Given the description of an element on the screen output the (x, y) to click on. 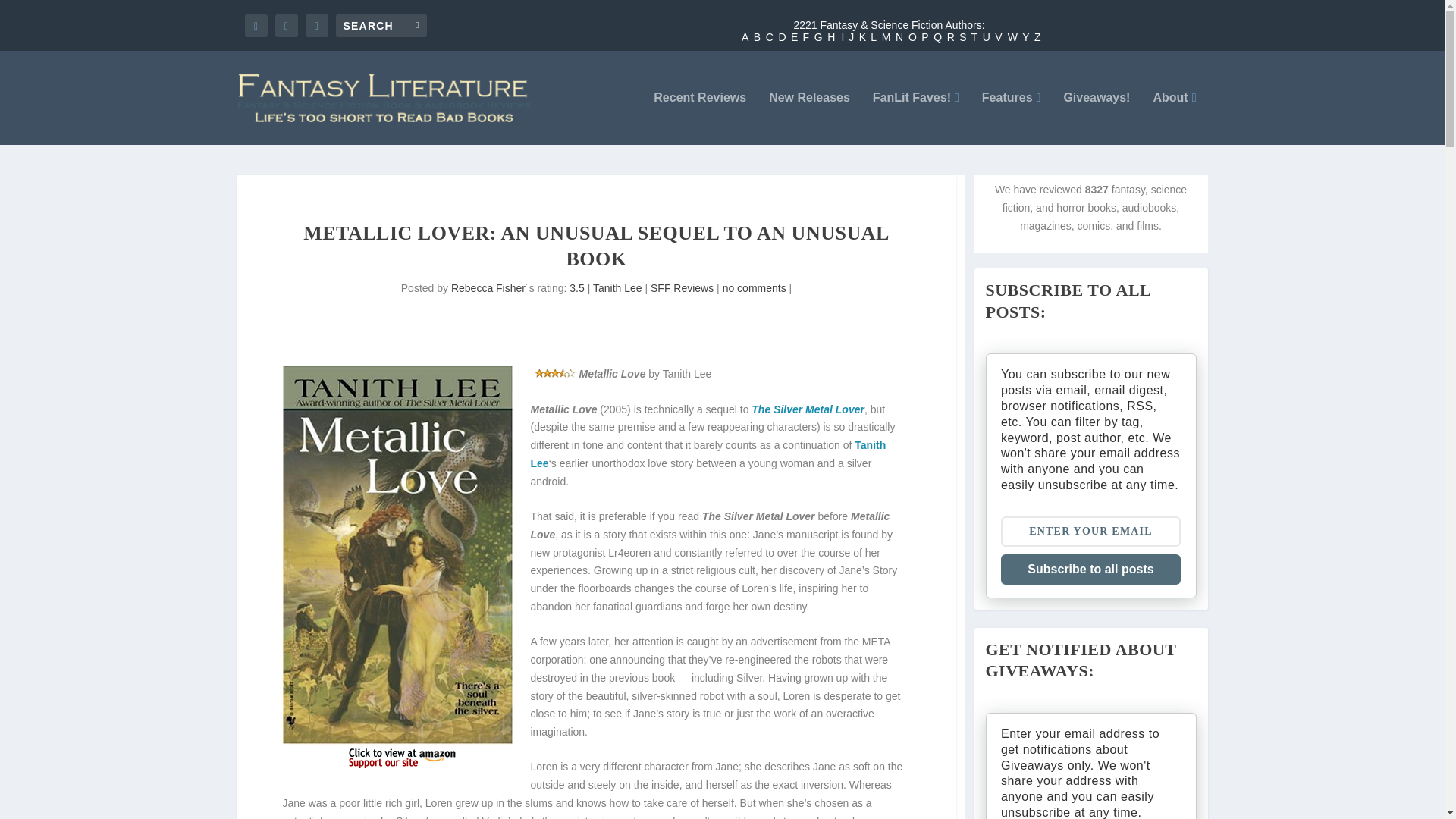
Posts by Rebecca Fisher (488, 287)
Search for: (380, 24)
FanLit Faves! (915, 117)
